Given the description of an element on the screen output the (x, y) to click on. 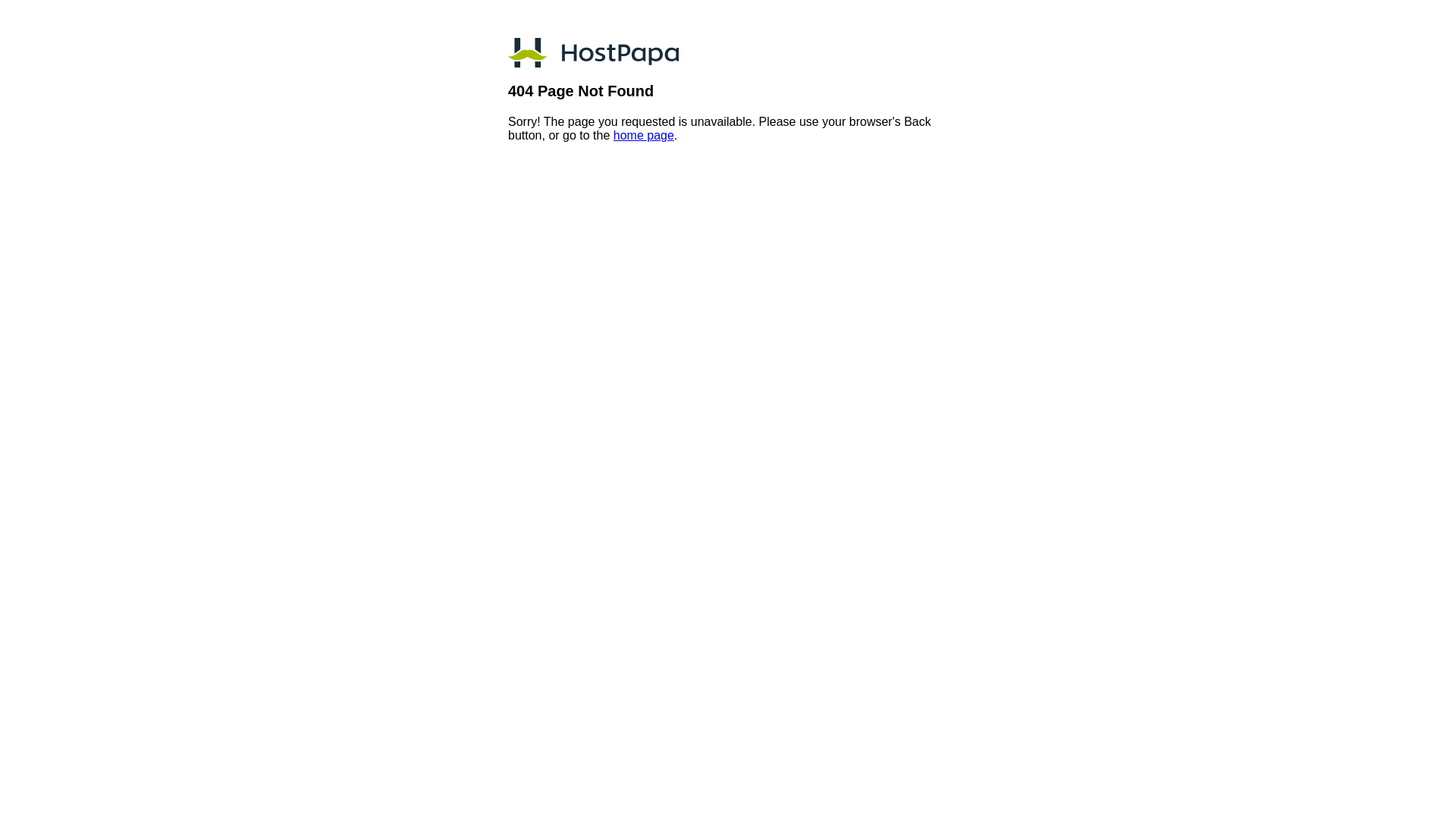
home page Element type: text (643, 134)
